Given the description of an element on the screen output the (x, y) to click on. 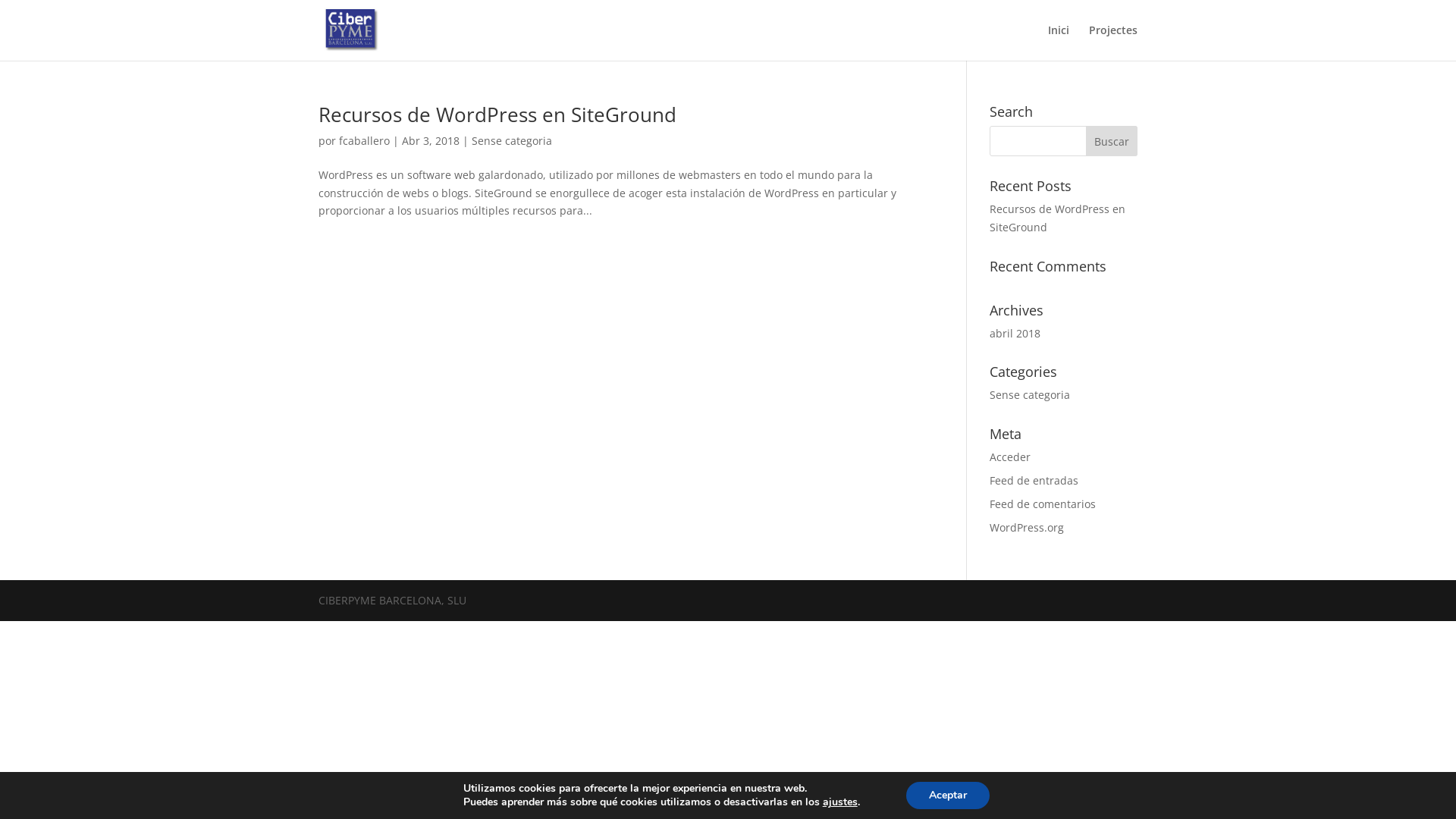
Aceptar Element type: text (947, 795)
fcaballero Element type: text (363, 140)
WordPress.org Element type: text (1026, 527)
Feed de comentarios Element type: text (1042, 503)
Feed de entradas Element type: text (1033, 480)
Projectes Element type: text (1112, 42)
Inici Element type: text (1058, 42)
Sense categoria Element type: text (511, 140)
Sense categoria Element type: text (1029, 394)
Buscar Element type: text (1111, 140)
abril 2018 Element type: text (1014, 333)
Recursos de WordPress en SiteGround Element type: text (497, 114)
Recursos de WordPress en SiteGround Element type: text (1057, 217)
Acceder Element type: text (1009, 456)
ajustes Element type: text (839, 802)
